Given the description of an element on the screen output the (x, y) to click on. 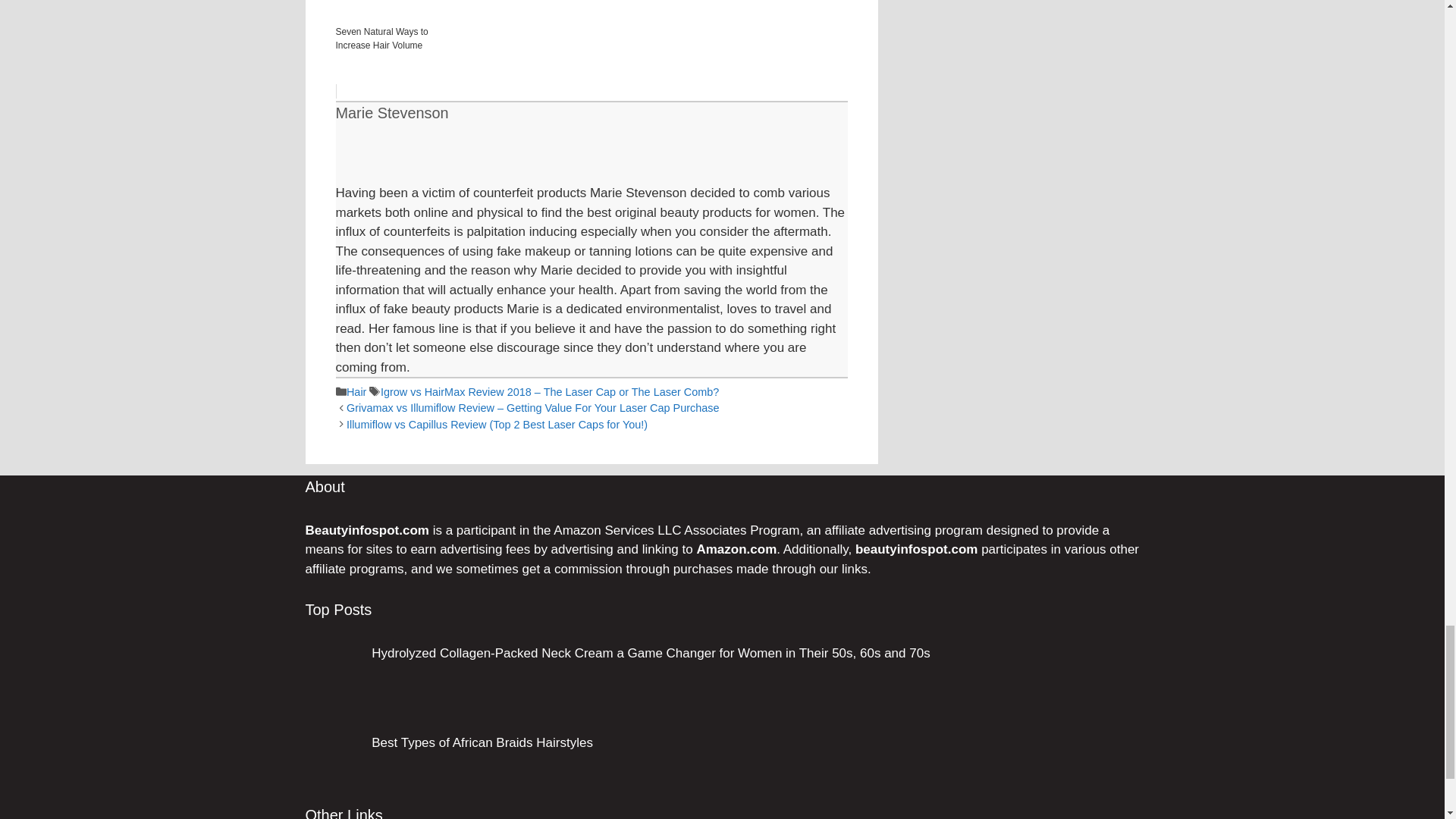
Marie Stevenson (391, 112)
Previous (532, 408)
Hair (356, 391)
Best Types of African Braids Hairstyles 6 (332, 765)
All posts by Marie Stevenson (391, 112)
Seven Natural Ways to Increase Hair Volume (590, 49)
Next (496, 424)
